Given the description of an element on the screen output the (x, y) to click on. 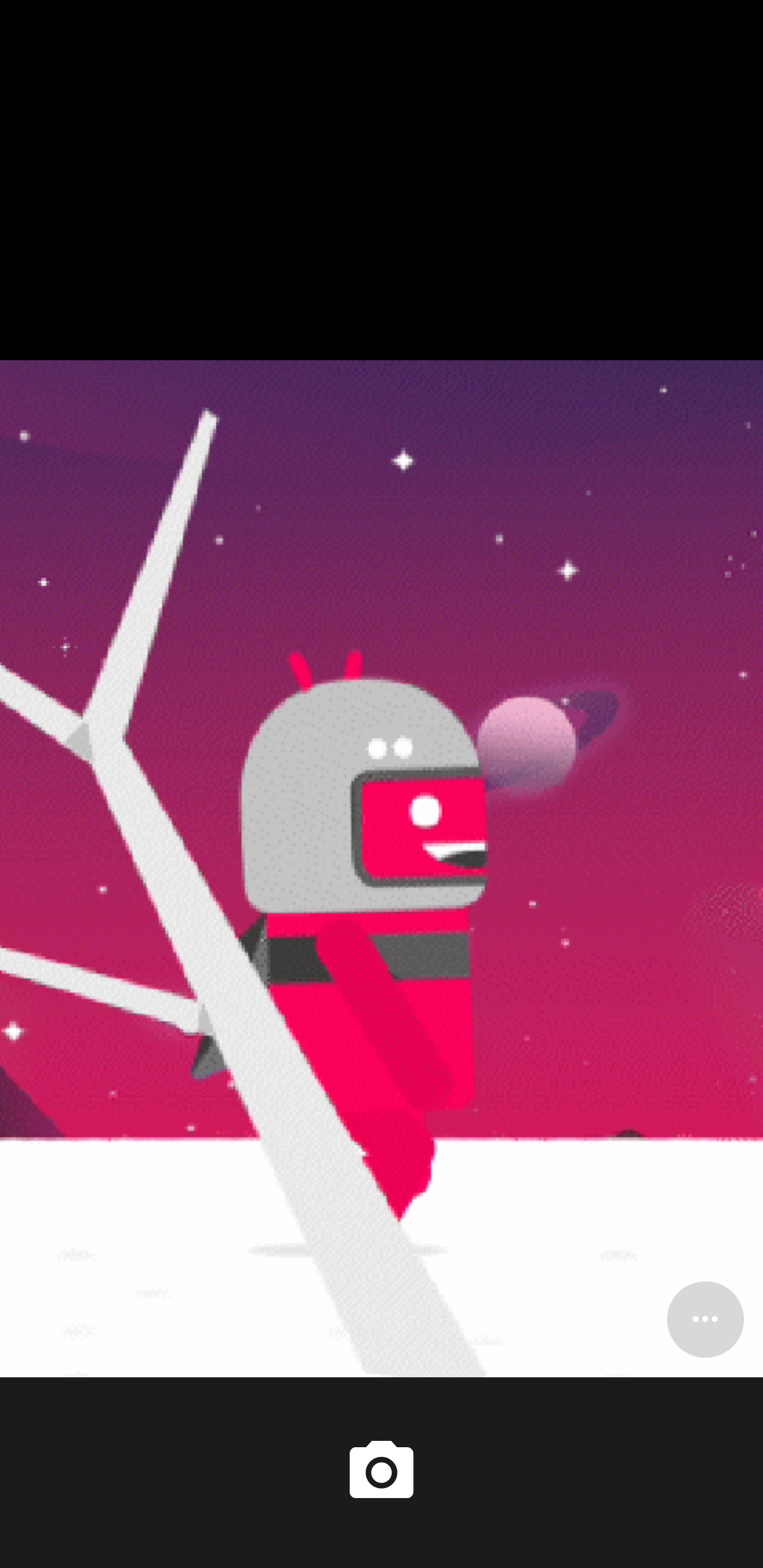
Options (704, 1319)
Shutter (381, 1472)
